Given the description of an element on the screen output the (x, y) to click on. 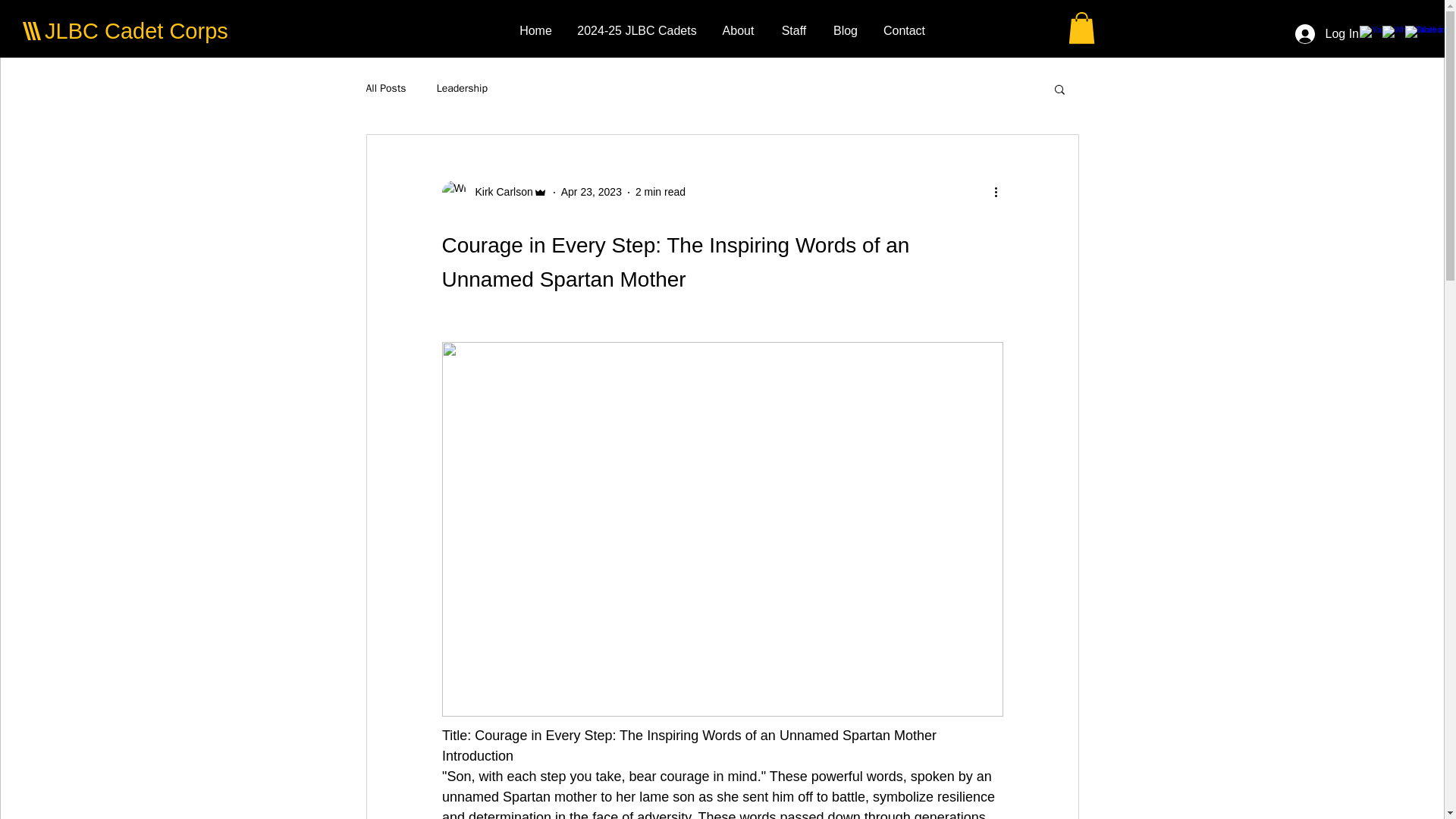
Home (535, 30)
JLBC Cadet Corps (136, 30)
2 min read (659, 191)
Blog (845, 30)
Kirk Carlson (494, 192)
Kirk Carlson (498, 191)
About (738, 30)
All Posts (385, 88)
Log In (1327, 33)
Staff (794, 30)
Apr 23, 2023 (590, 191)
Leadership (461, 88)
2024-25 JLBC Cadets (636, 30)
Contact (903, 30)
